Given the description of an element on the screen output the (x, y) to click on. 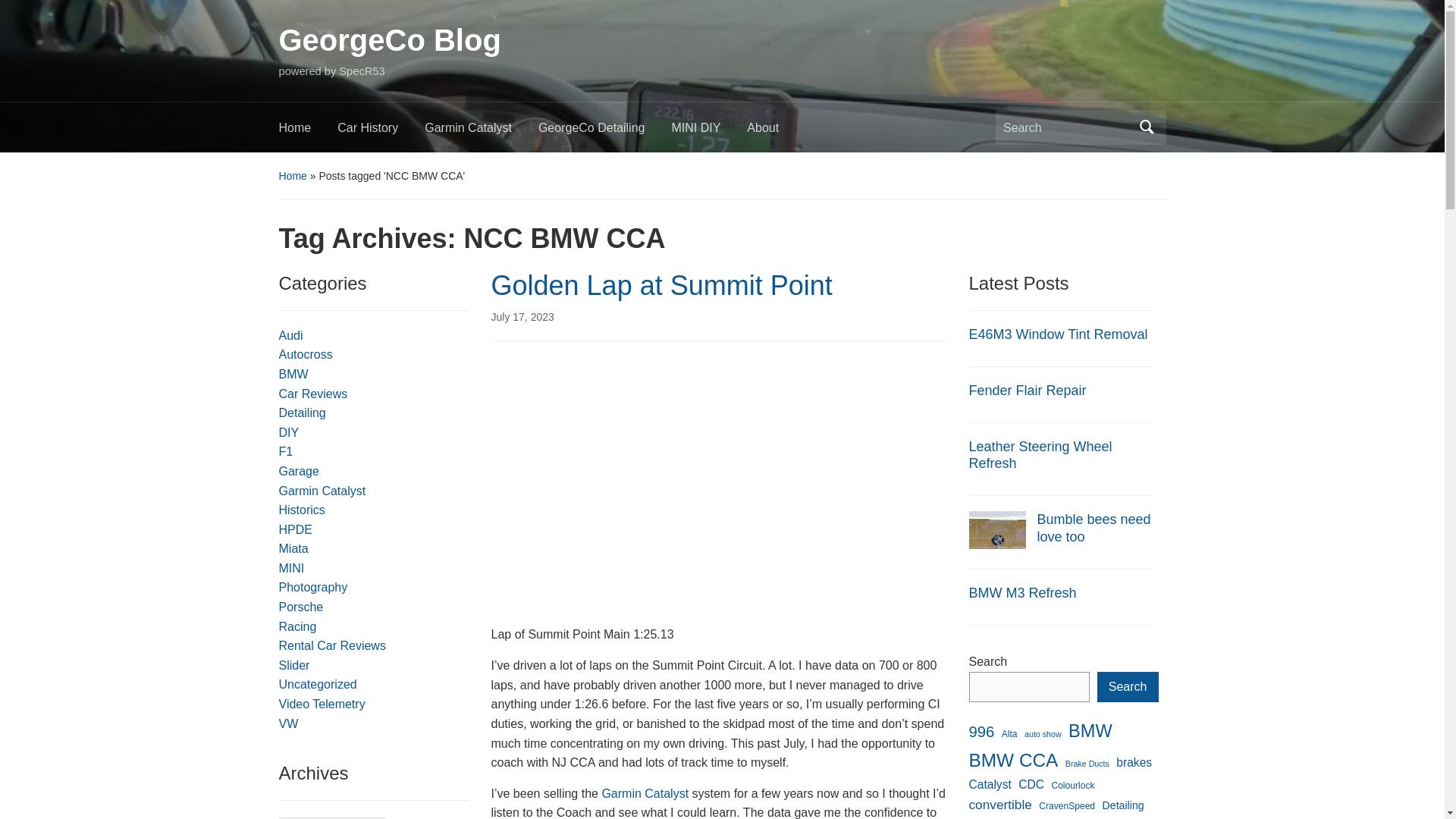
Car History (381, 131)
GeorgeCo Detailing (604, 131)
Rental Car Reviews (332, 645)
HPDE (296, 529)
Golden Lap at Summit Point (662, 285)
About (775, 131)
Video Telemetry (322, 703)
July 17, 2023 (523, 316)
Racing (298, 626)
VW (288, 723)
GeorgeCo Blog - powered by SpecR53 (389, 39)
Garage (298, 471)
Home (308, 131)
Garmin Catalyst (644, 793)
MINI DIY (708, 131)
